Given the description of an element on the screen output the (x, y) to click on. 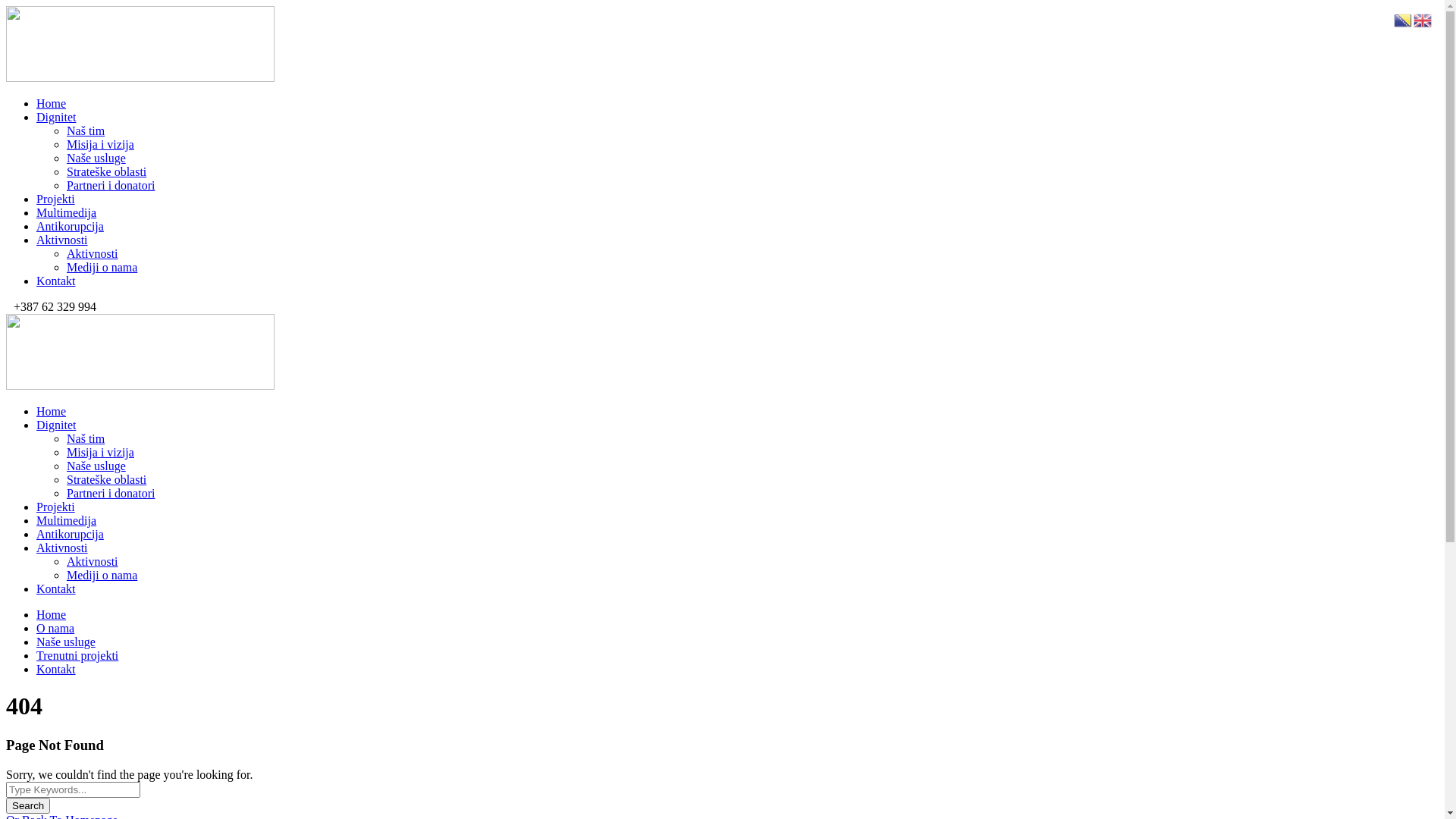
Misija i vizija Element type: text (100, 144)
Projekti Element type: text (55, 198)
Antikorupcija Element type: text (69, 225)
Home Element type: text (50, 103)
Aktivnosti Element type: text (61, 239)
English Element type: hover (1423, 18)
Projekti Element type: text (55, 506)
Bosnian Element type: hover (1403, 18)
Kontakt Element type: text (55, 588)
Search Element type: text (28, 805)
Kontakt Element type: text (55, 280)
Dignitet Element type: text (55, 116)
logo-w Element type: hover (140, 351)
Dignitet Element type: text (55, 424)
logo-w Element type: hover (140, 43)
Home Element type: text (50, 614)
O nama Element type: text (55, 627)
Kontakt Element type: text (55, 668)
Aktivnosti Element type: text (92, 561)
Aktivnosti Element type: text (92, 253)
Multimedija Element type: text (66, 212)
Mediji o nama Element type: text (101, 574)
Partneri i donatori Element type: text (110, 184)
Antikorupcija Element type: text (69, 533)
Trenutni projekti Element type: text (77, 655)
Aktivnosti Element type: text (61, 547)
Multimedija Element type: text (66, 520)
Partneri i donatori Element type: text (110, 492)
Mediji o nama Element type: text (101, 266)
Misija i vizija Element type: text (100, 451)
Home Element type: text (50, 410)
